Given the description of an element on the screen output the (x, y) to click on. 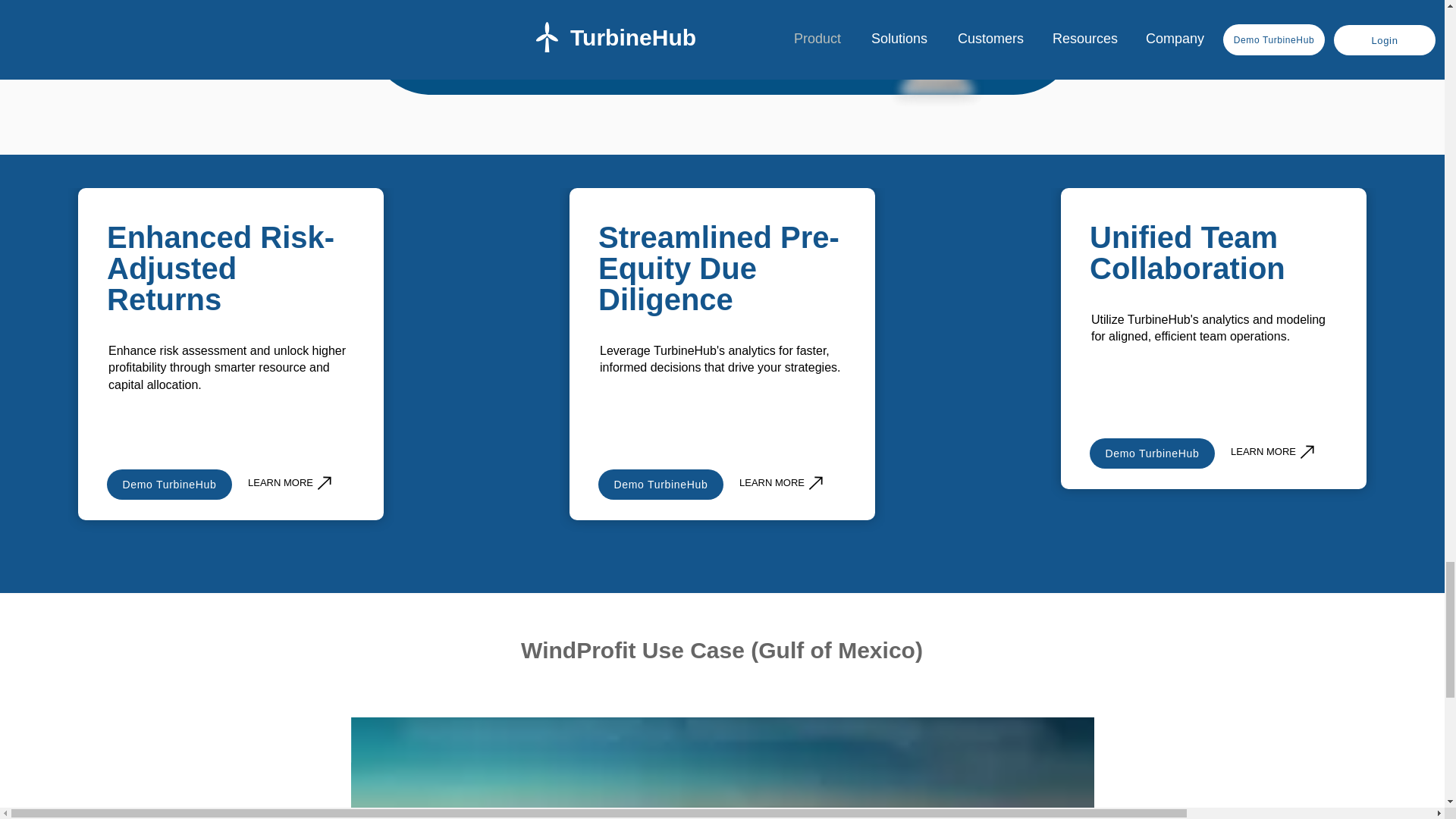
LEARN MORE (782, 482)
LEARN MORE (291, 482)
Demo TurbineHub (660, 484)
Demo TurbineHub (168, 484)
LEARN MORE (1274, 451)
Demo TurbineHub (1151, 453)
